Given the description of an element on the screen output the (x, y) to click on. 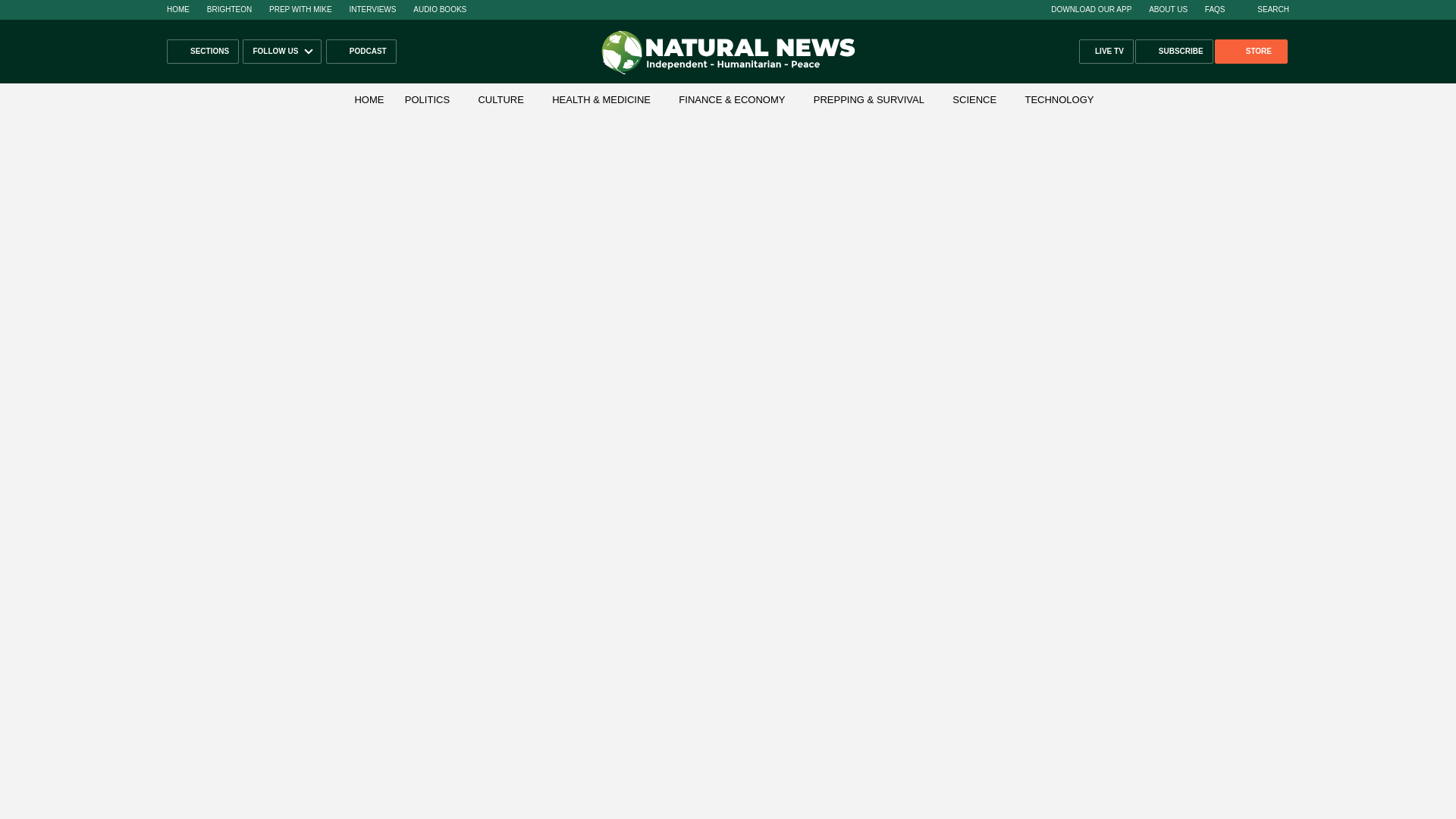
FAQS (1215, 8)
CULTURE (500, 99)
SEARCH (1264, 8)
LIVE TV (1106, 51)
PODCAST (361, 51)
HOME (178, 8)
POLITICS (427, 99)
PREP WITH MIKE (300, 8)
TECHNOLOGY (1058, 99)
HOME (369, 99)
AUDIO BOOKS (439, 8)
STORE (1250, 51)
INTERVIEWS (372, 8)
DOWNLOAD OUR APP (1091, 8)
SCIENCE (974, 99)
